Given the description of an element on the screen output the (x, y) to click on. 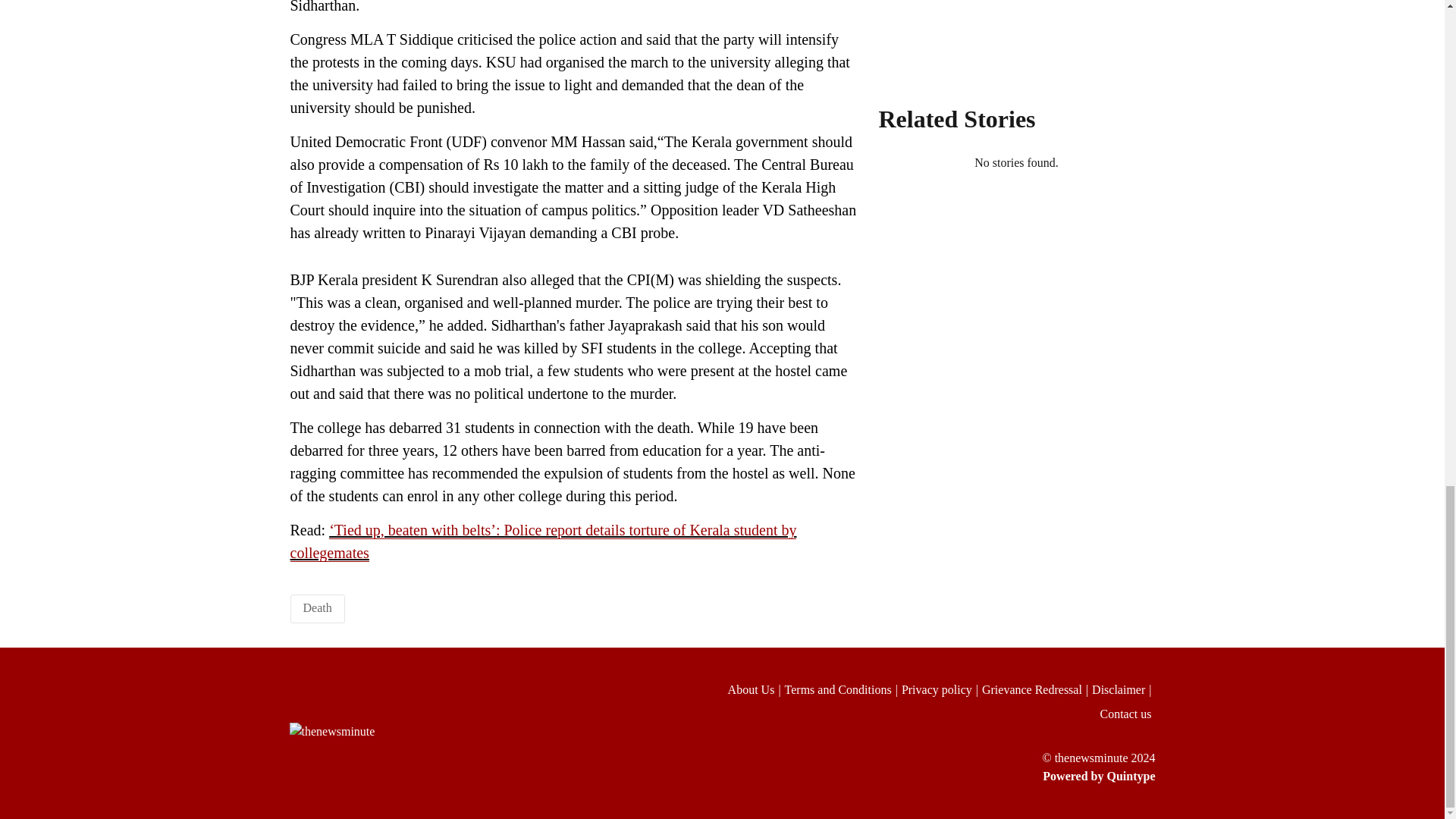
Disclaimer (1123, 689)
Terms and Conditions (842, 689)
Powered by Quintype (928, 776)
Death (316, 607)
About Us (756, 689)
Grievance Redressal (1036, 689)
Contact us (1126, 713)
Privacy policy (941, 689)
